Given the description of an element on the screen output the (x, y) to click on. 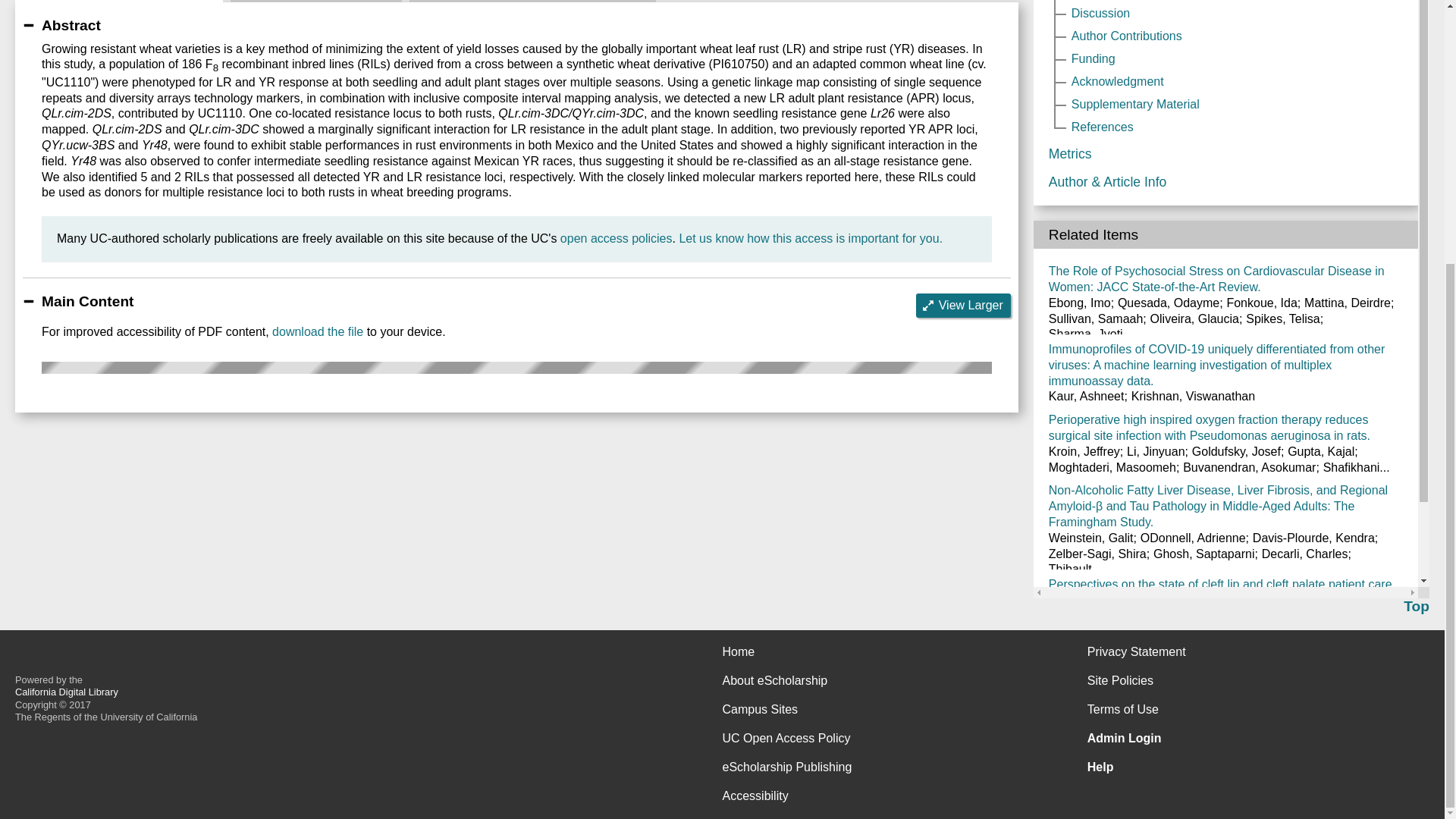
Metrics (315, 1)
Let us know how this access is important for you. (810, 237)
Main Content (118, 1)
open access policies (616, 237)
